Given the description of an element on the screen output the (x, y) to click on. 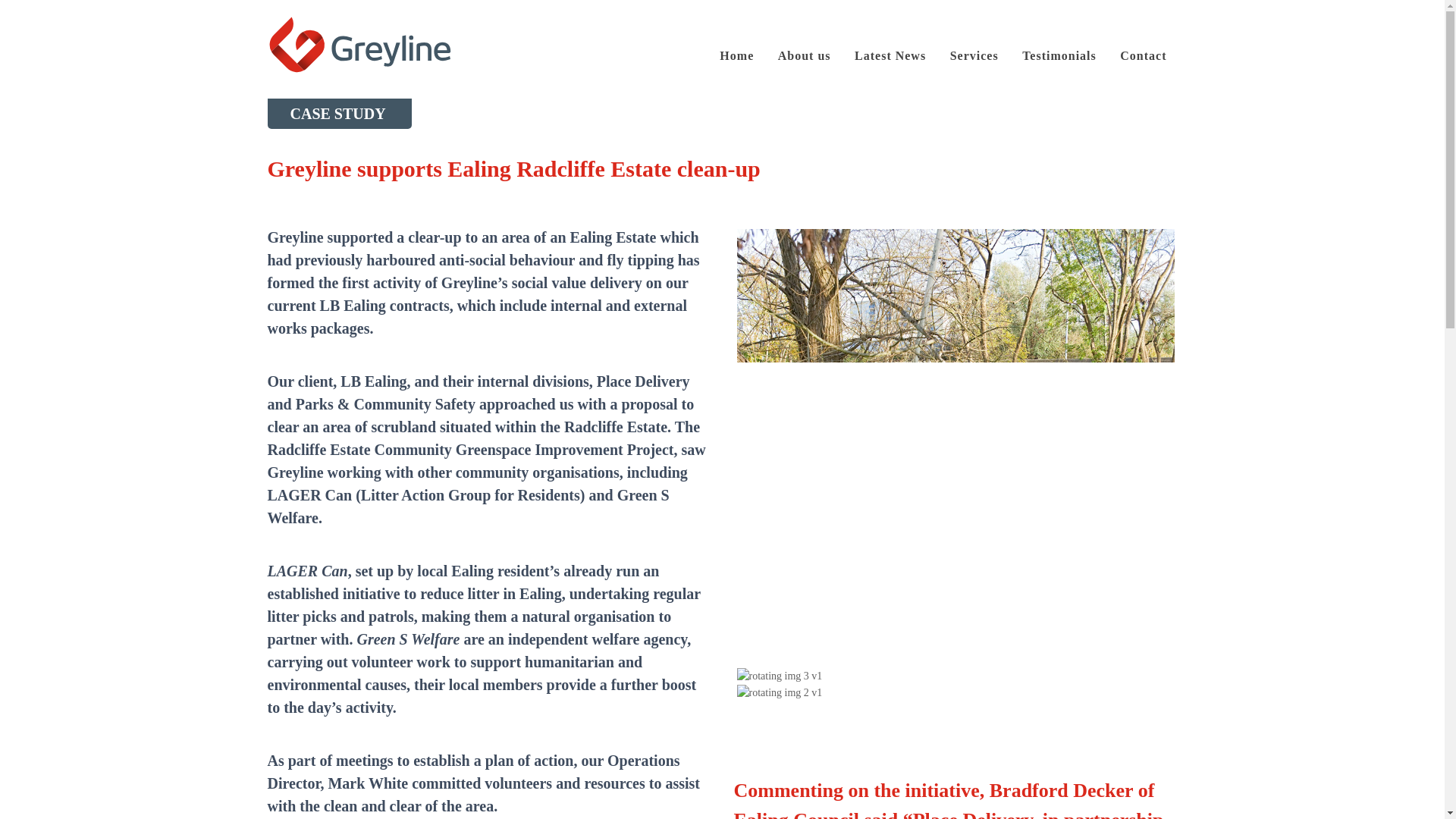
rotating img 2 v1 (779, 692)
Latest News (890, 56)
rotating img 3 v1 (779, 675)
Contact (1142, 56)
Testimonials (1058, 56)
Home (736, 56)
Services (974, 56)
About us (804, 56)
